Given the description of an element on the screen output the (x, y) to click on. 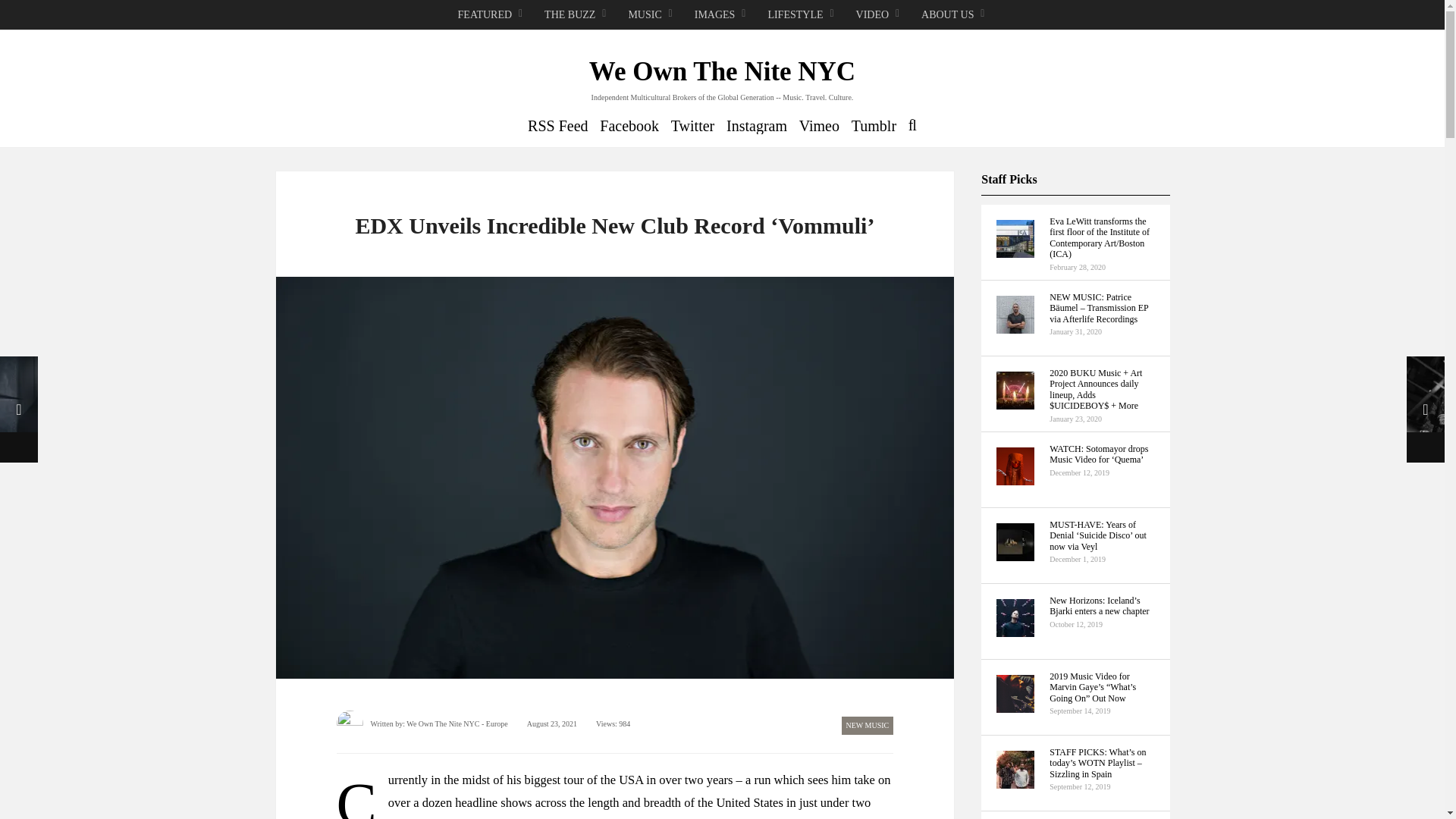
Facebook (629, 125)
Vimeo (819, 125)
THE BUZZ (576, 15)
FEATURED (491, 15)
LIFESTYLE (801, 15)
Tumblr (874, 125)
VIDEO (879, 15)
Instagram (757, 125)
ABOUT US (954, 15)
MUSIC (650, 15)
IMAGES (721, 15)
Rss Feed (557, 125)
Twitter (692, 125)
Posts by We Own The Nite NYC - Europe (456, 723)
